Given the description of an element on the screen output the (x, y) to click on. 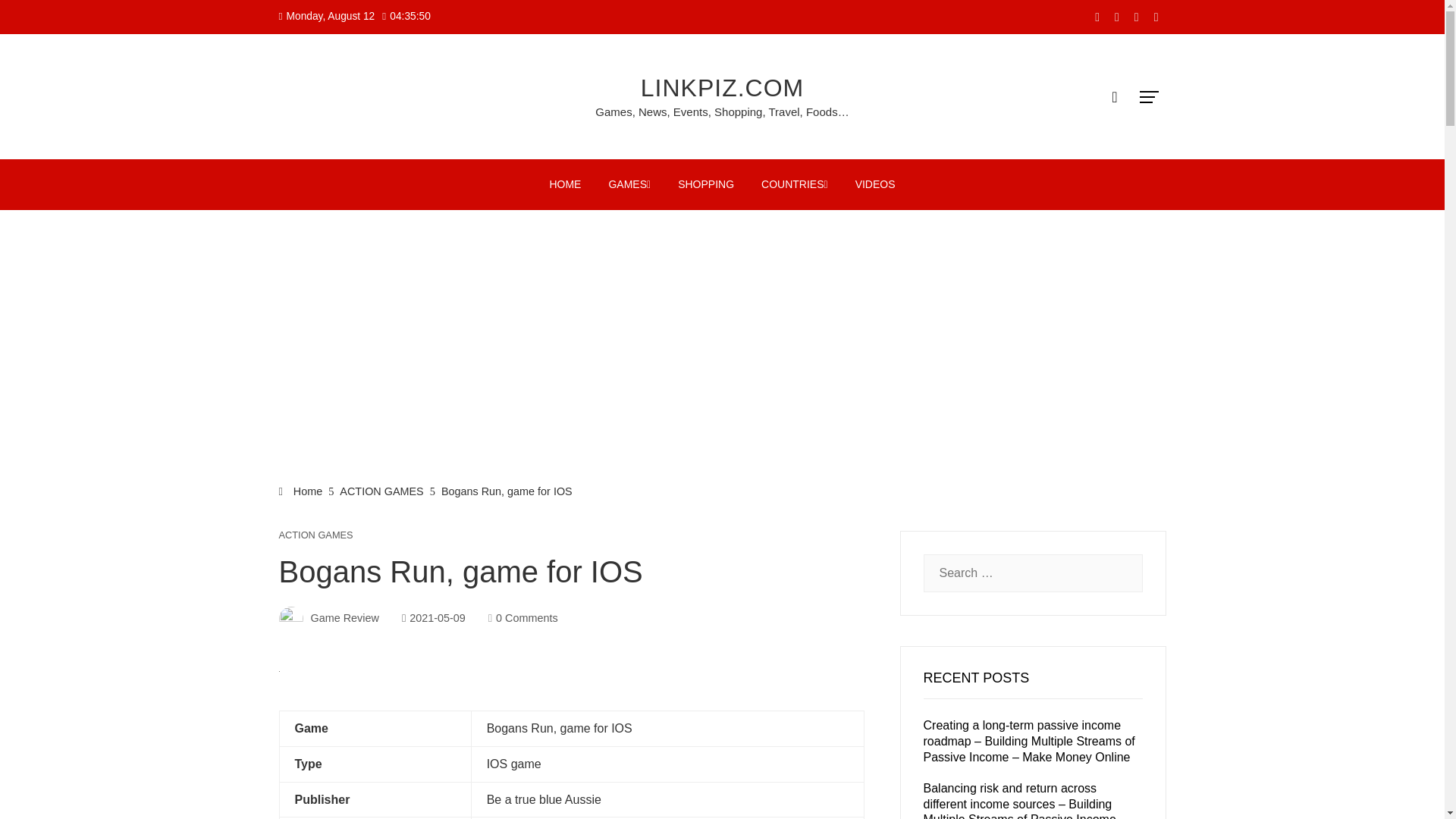
HOME (564, 183)
GAMES (629, 184)
SHOPPING (705, 183)
ACTION GAMES (316, 535)
LINKPIZ.COM (721, 87)
VIDEOS (875, 183)
COUNTRIES (794, 184)
ACTION GAMES (381, 491)
Home (301, 491)
